Given the description of an element on the screen output the (x, y) to click on. 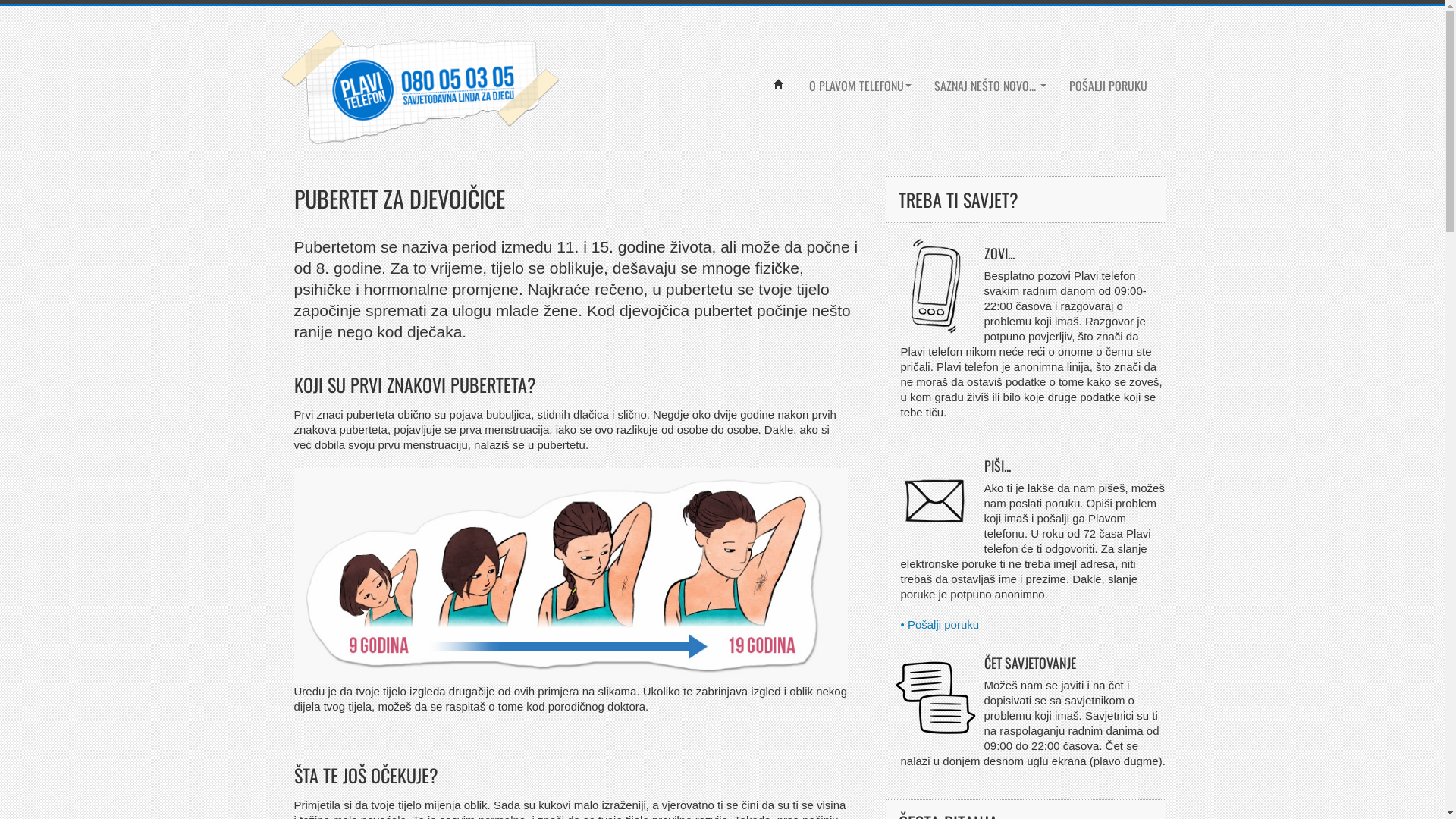
O PLAVOM TELEFONU Element type: text (859, 85)
